Given the description of an element on the screen output the (x, y) to click on. 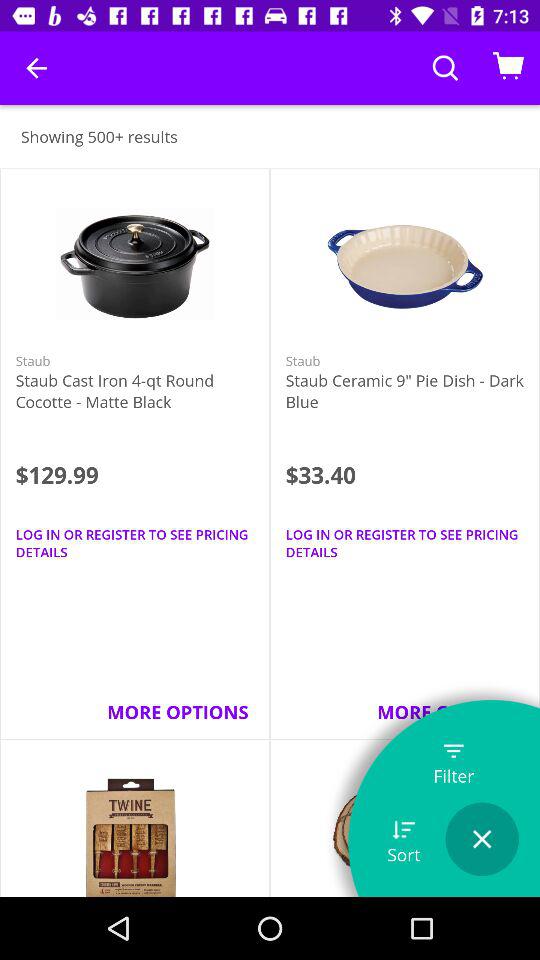
close button (482, 839)
